Given the description of an element on the screen output the (x, y) to click on. 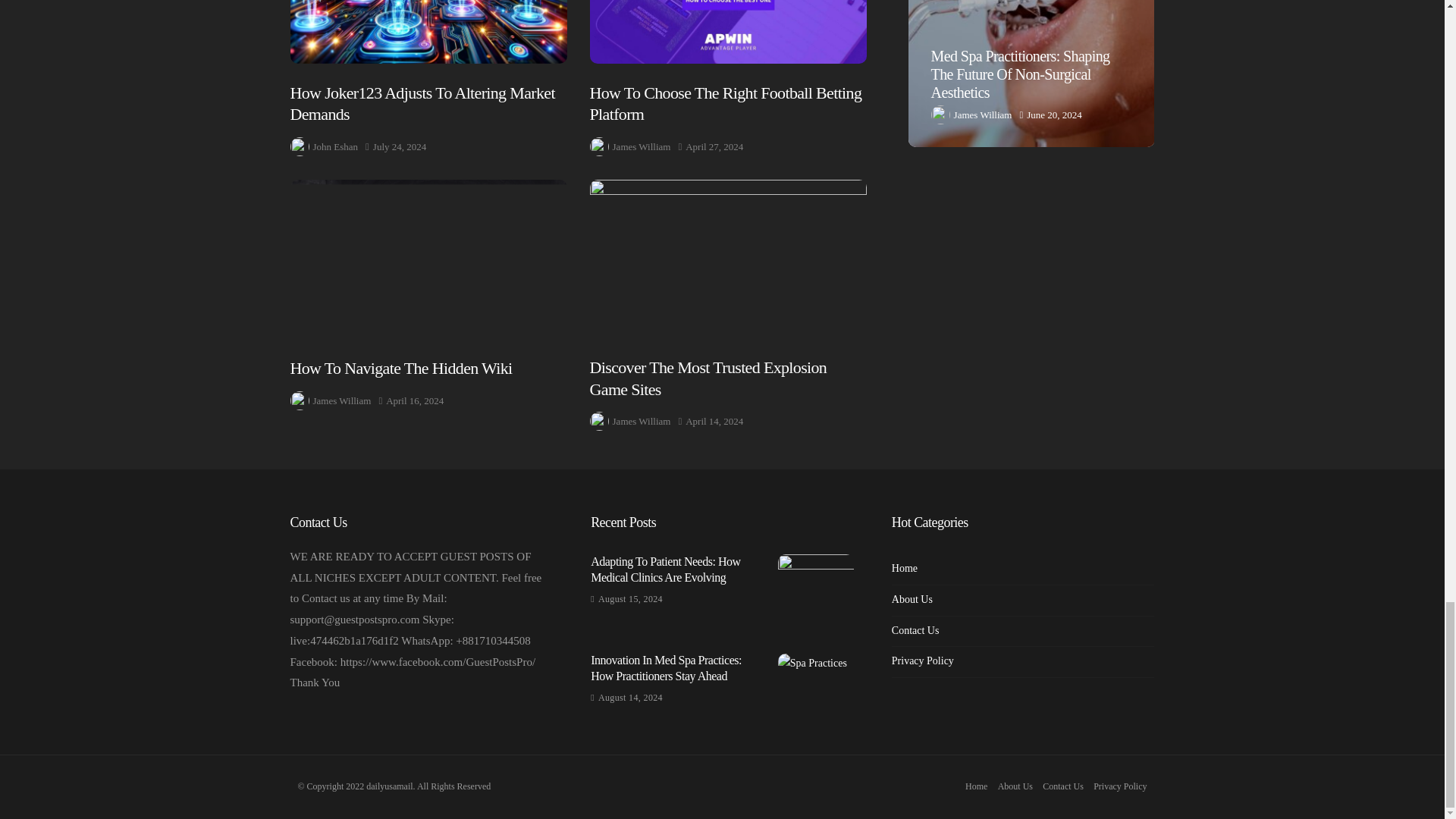
Discover The Most Trusted Explosion Game Sites (727, 258)
How To Navigate The Hidden Wiki (427, 259)
How Joker123 Adjusts To Altering Market Demands (427, 31)
Posts by James William (641, 420)
How To Choose The Right Football Betting Platform (727, 31)
Posts by John Eshan (335, 146)
Posts by James William (641, 146)
Posts by James William (342, 400)
